Given the description of an element on the screen output the (x, y) to click on. 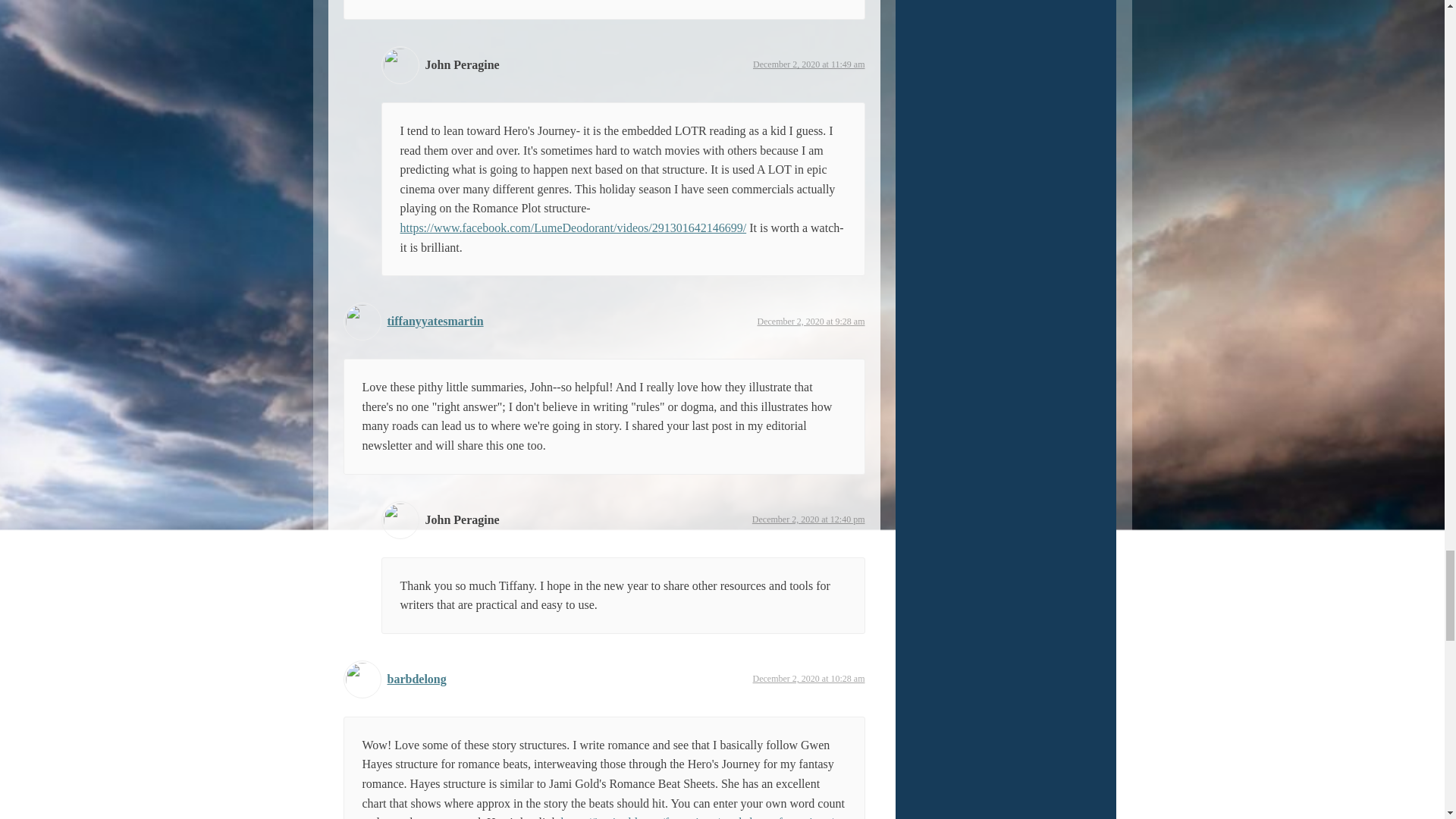
December 2, 2020 at 11:49 am (808, 63)
December 2, 2020 at 12:40 pm (808, 519)
December 2, 2020 at 10:28 am (808, 678)
tiffanyyatesmartin (435, 320)
December 2, 2020 at 9:28 am (810, 321)
barbdelong (416, 678)
